Given the description of an element on the screen output the (x, y) to click on. 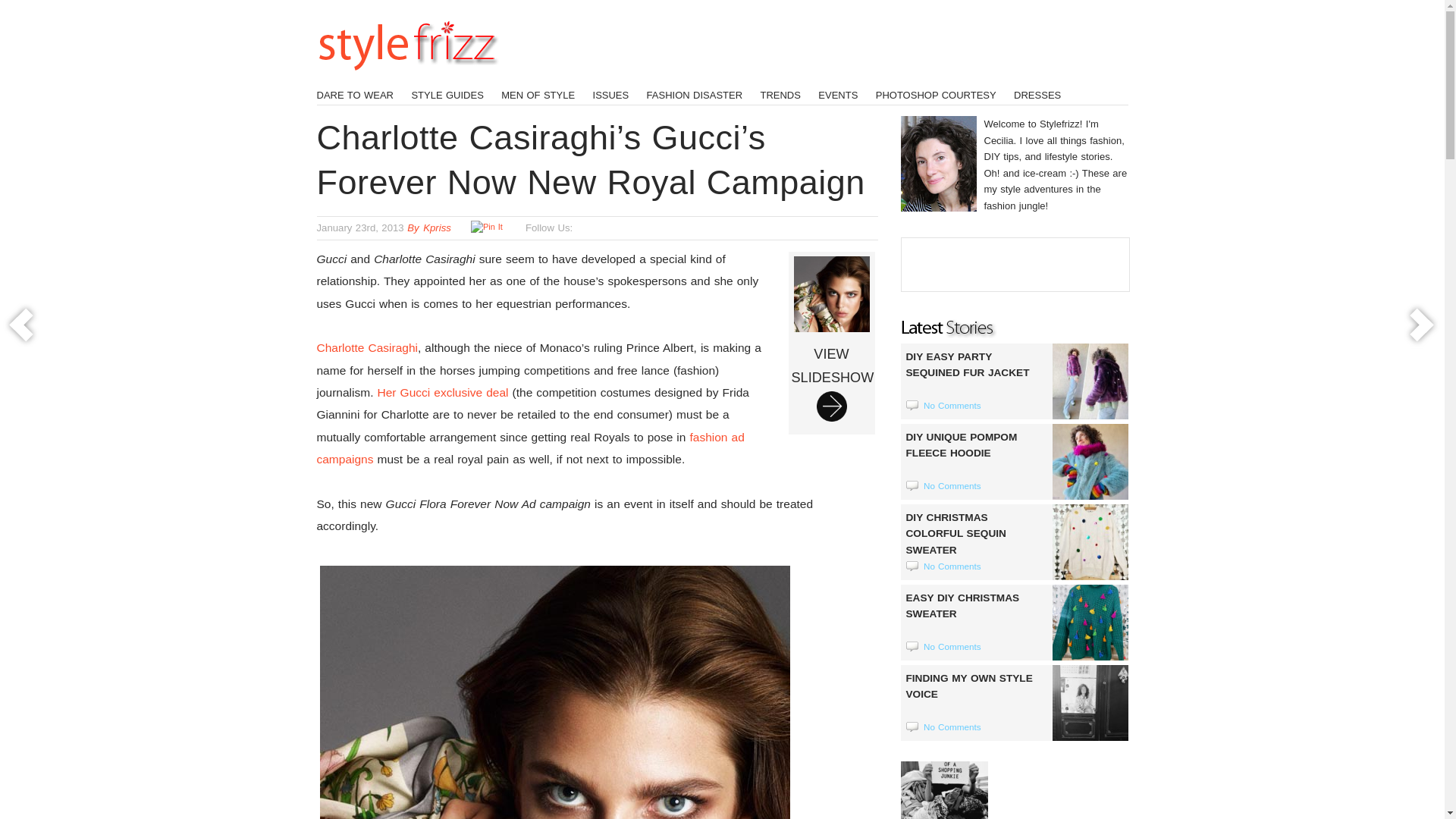
Her Gucci exclusive deal (442, 391)
Charlotte Casiraghi Gucci Glora Forever Now ad campaign (555, 690)
DRESSES (1037, 94)
STYLE GUIDES (446, 94)
Kpriss (436, 227)
fashion ad campaigns (530, 448)
DARE TO WEAR (355, 94)
FASHION DISASTER (694, 94)
MEN OF STYLE (537, 94)
PHOTOSHOP COURTESY (935, 94)
Confessions of a Shopping Junkie (944, 790)
EVENTS (837, 94)
TRENDS (779, 94)
Charlotte Casiraghi (367, 347)
ISSUES (610, 94)
